Given the description of an element on the screen output the (x, y) to click on. 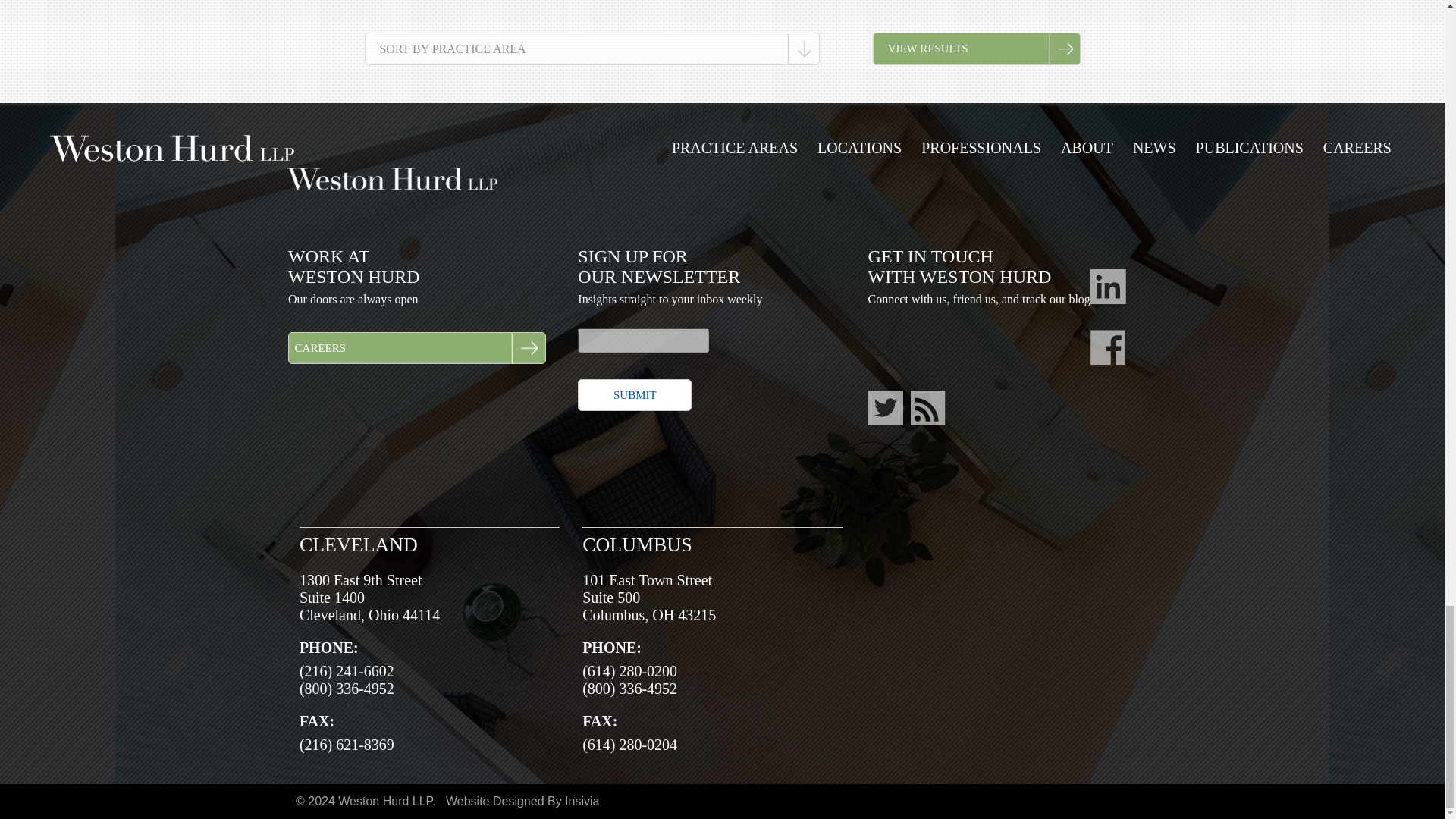
Careers (417, 347)
Submit (634, 395)
VIEW RESULTS (976, 49)
